Given the description of an element on the screen output the (x, y) to click on. 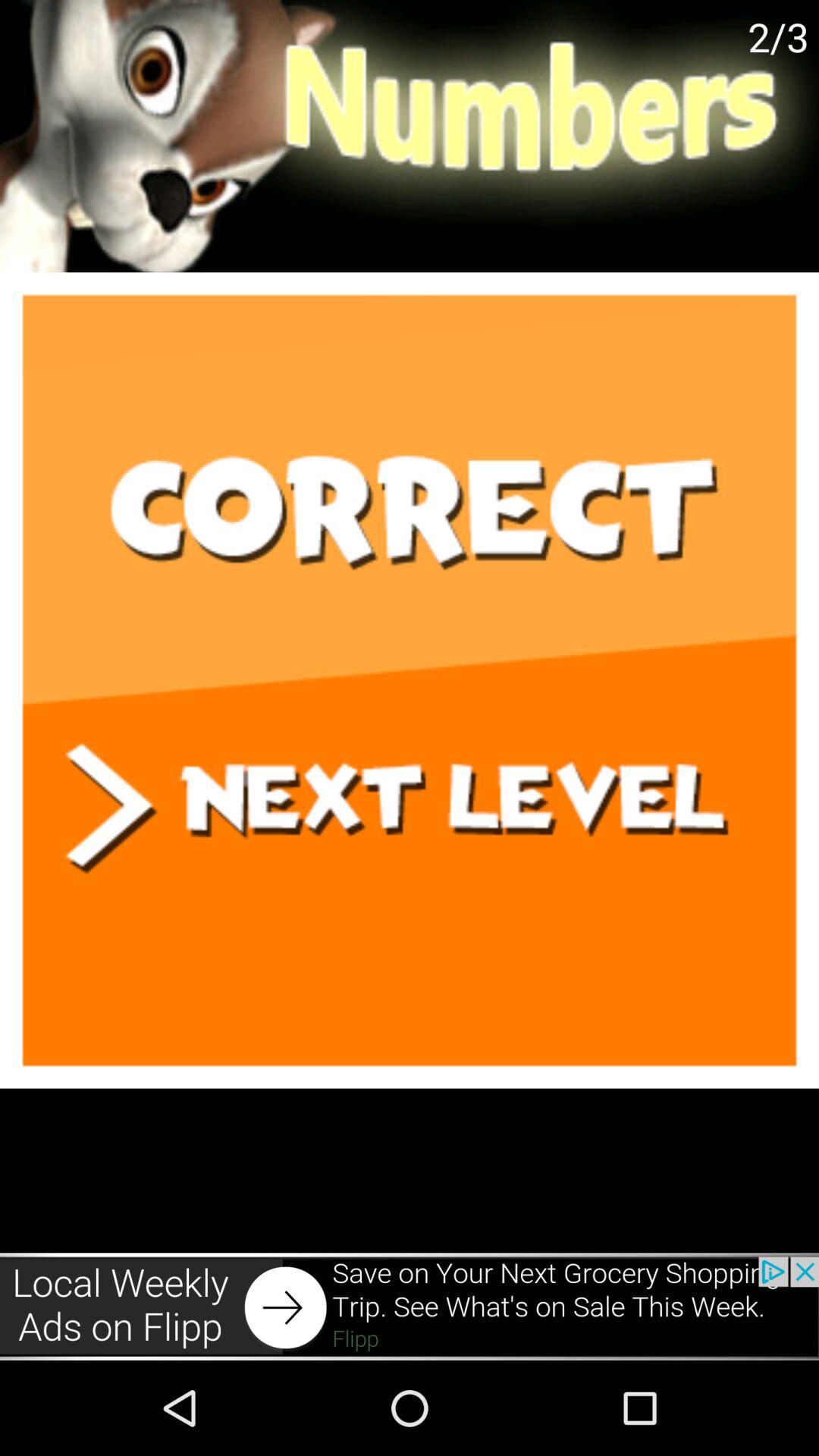
view advertisement (409, 1306)
